Given the description of an element on the screen output the (x, y) to click on. 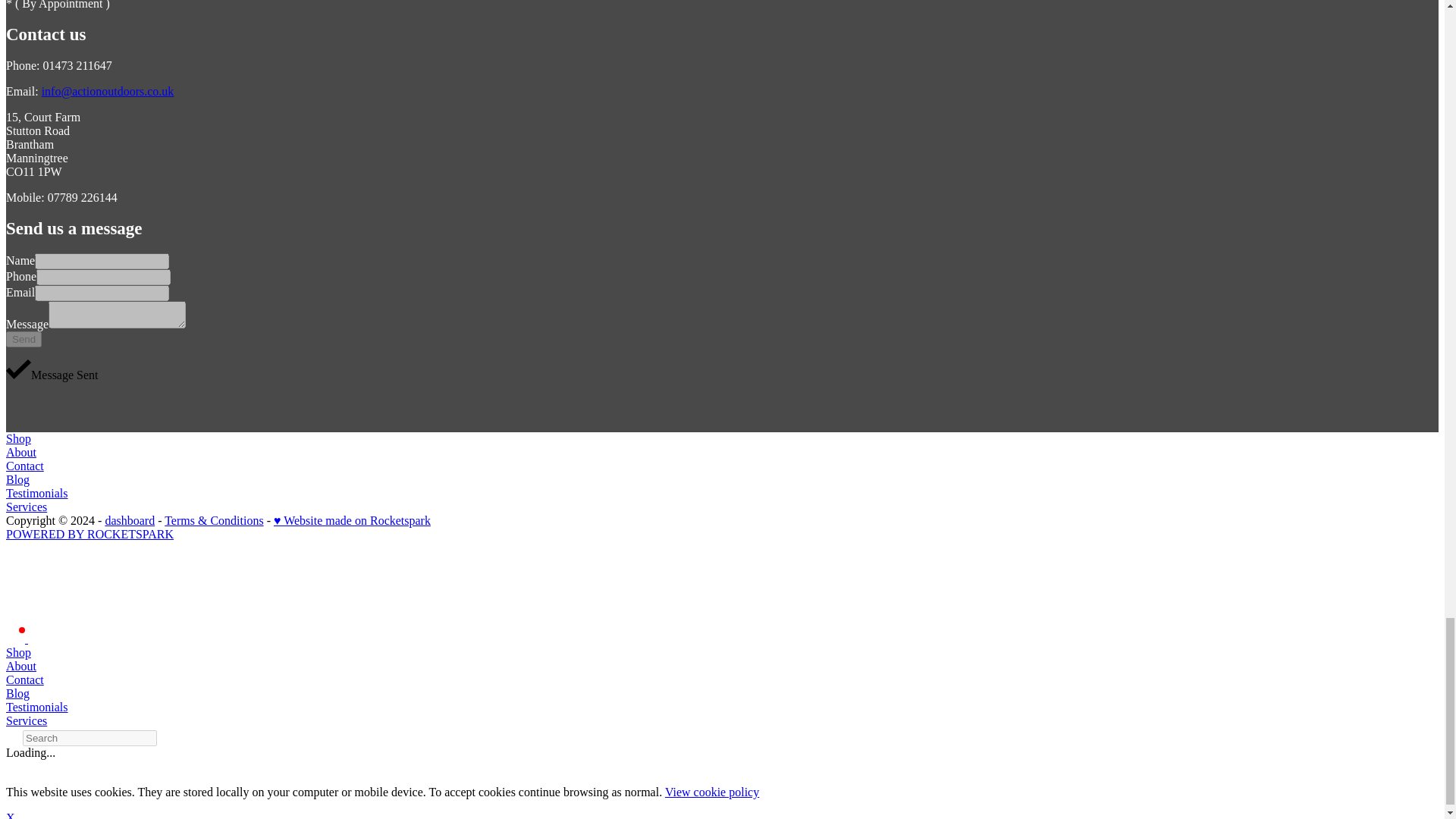
dashboard (129, 520)
Send (23, 339)
Rocketspark website builder (384, 618)
POWERED BY ROCKETSPARK (89, 533)
